Given the description of an element on the screen output the (x, y) to click on. 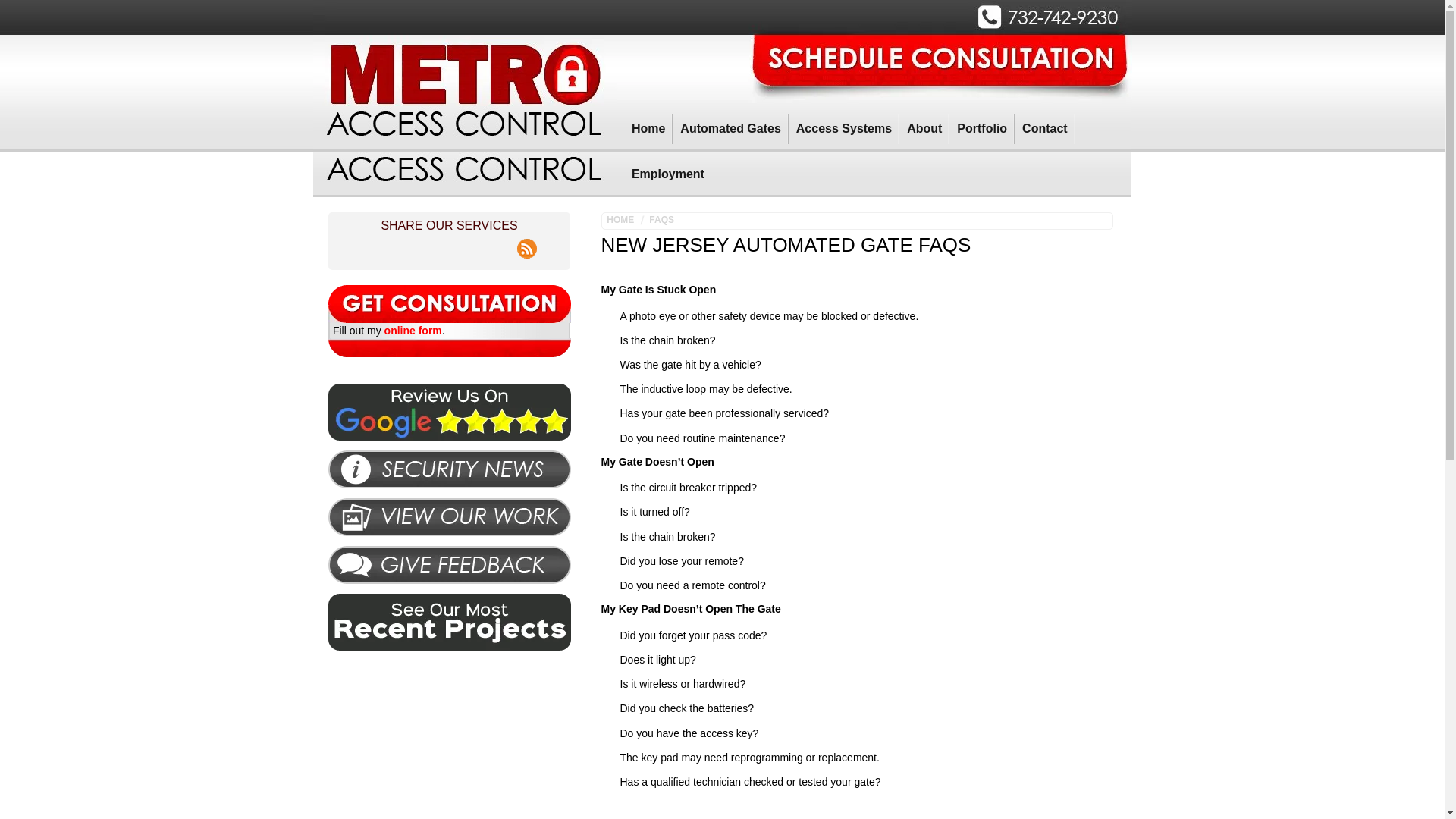
Home (648, 128)
Portfolio (981, 128)
Automated Gates (729, 128)
About (924, 128)
Access Systems (844, 128)
